Given the description of an element on the screen output the (x, y) to click on. 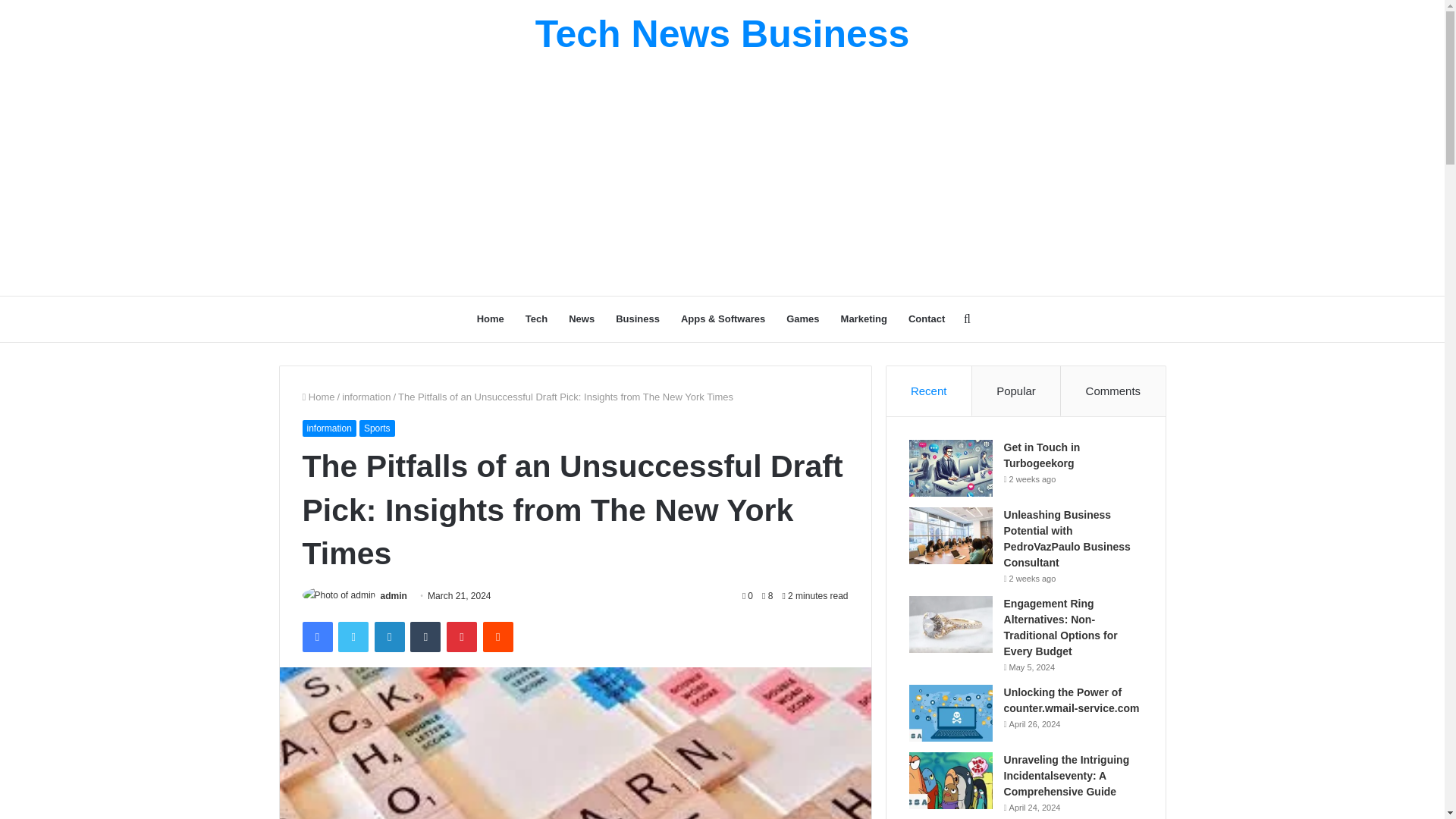
Reddit (498, 636)
Games (802, 319)
Marketing (863, 319)
admin (393, 595)
Twitter (352, 636)
Tech (536, 319)
Facebook (316, 636)
information (366, 396)
Tumblr (425, 636)
Twitter (352, 636)
Facebook (316, 636)
information (328, 428)
Home (490, 319)
Sports (376, 428)
